Given the description of an element on the screen output the (x, y) to click on. 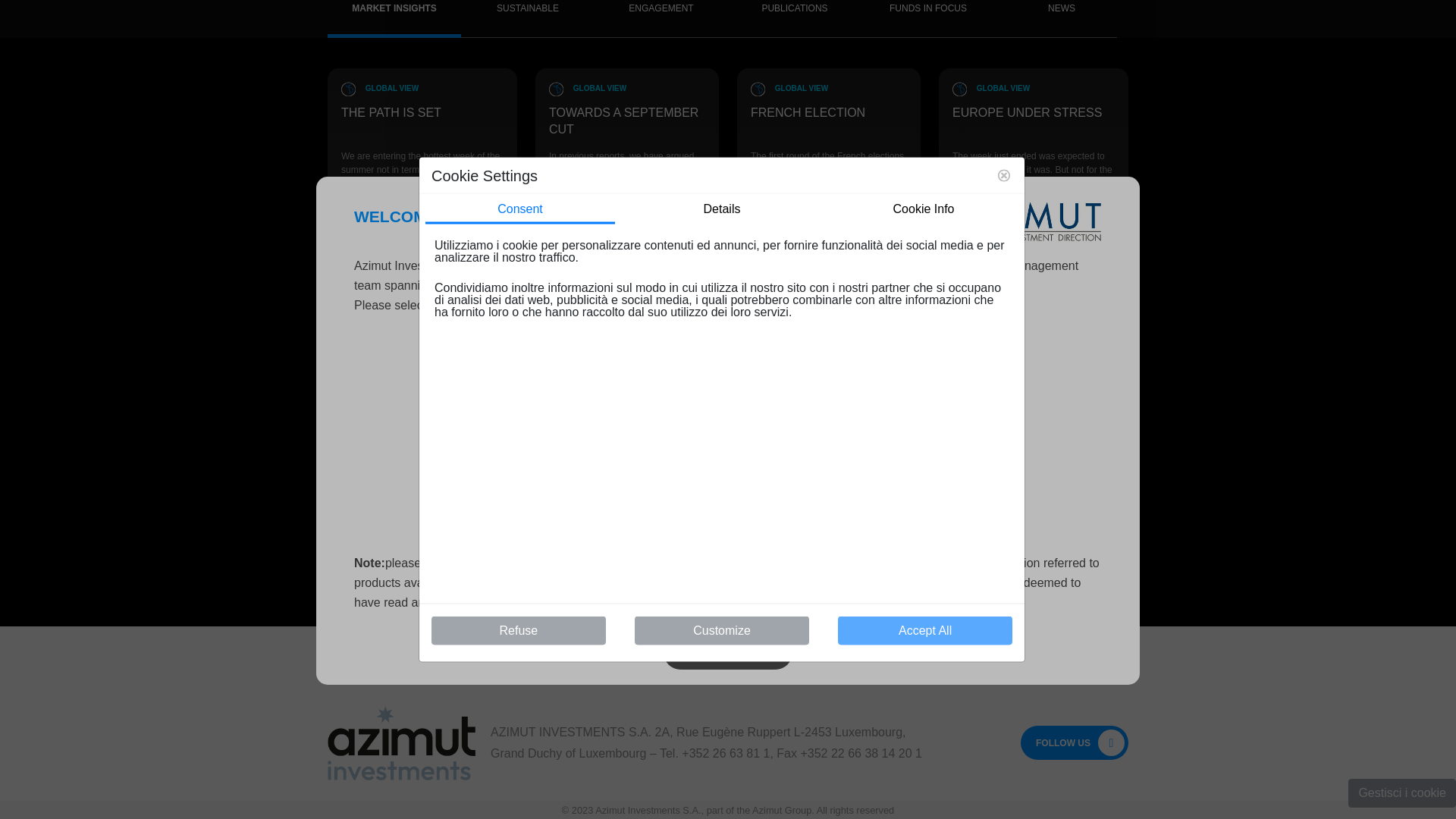
CONFIRM (727, 264)
terms and conditions (841, 69)
